Given the description of an element on the screen output the (x, y) to click on. 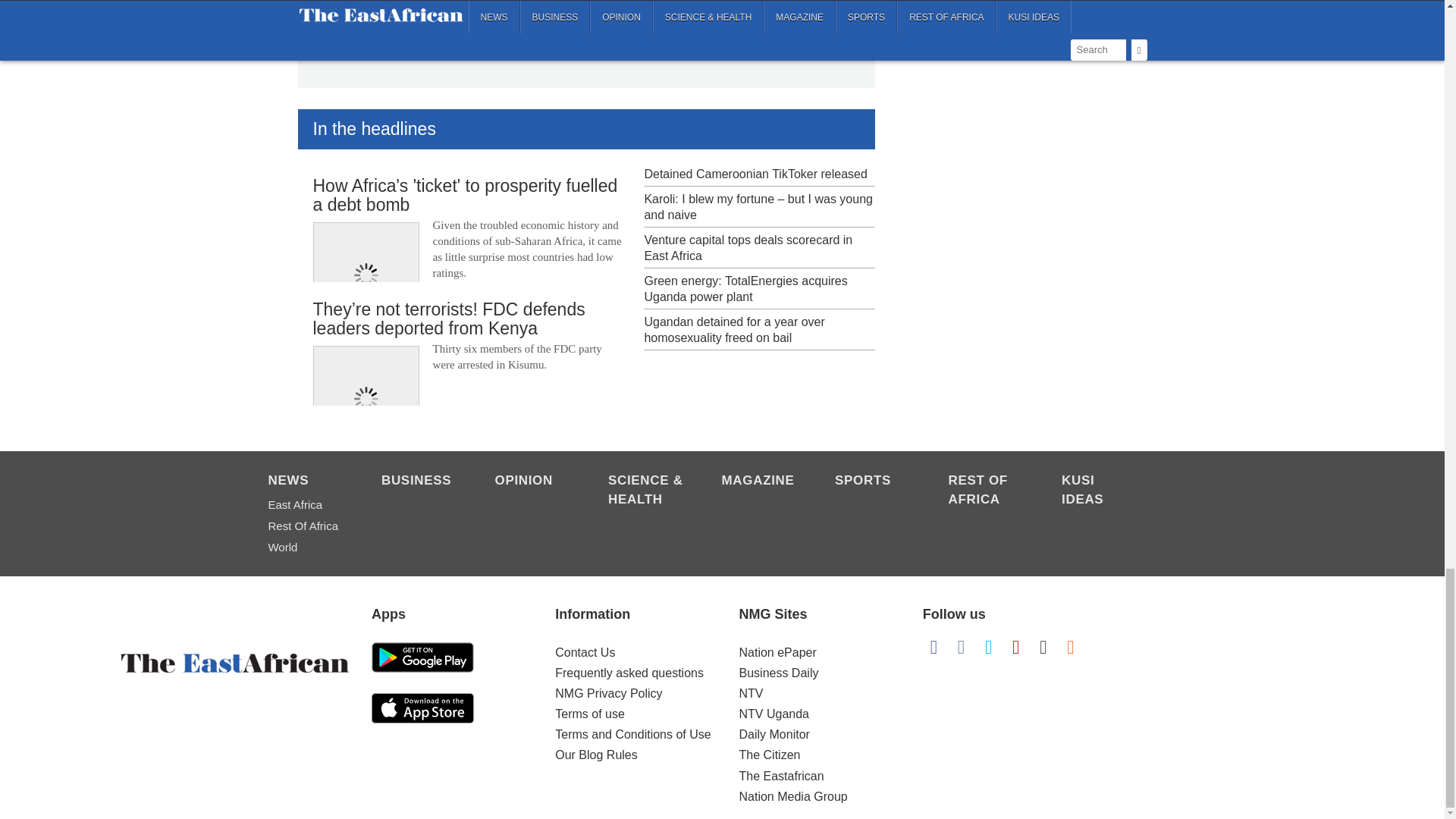
Sports (873, 481)
Business (419, 481)
Frequently asked questions (628, 672)
Contact Us (584, 652)
Opinion (533, 481)
Rest of Africa (987, 491)
World (306, 547)
News (306, 481)
Magazine (760, 481)
KUSI IDEAS (1099, 491)
Rest of Africa (306, 526)
East Africa (306, 504)
